Given the description of an element on the screen output the (x, y) to click on. 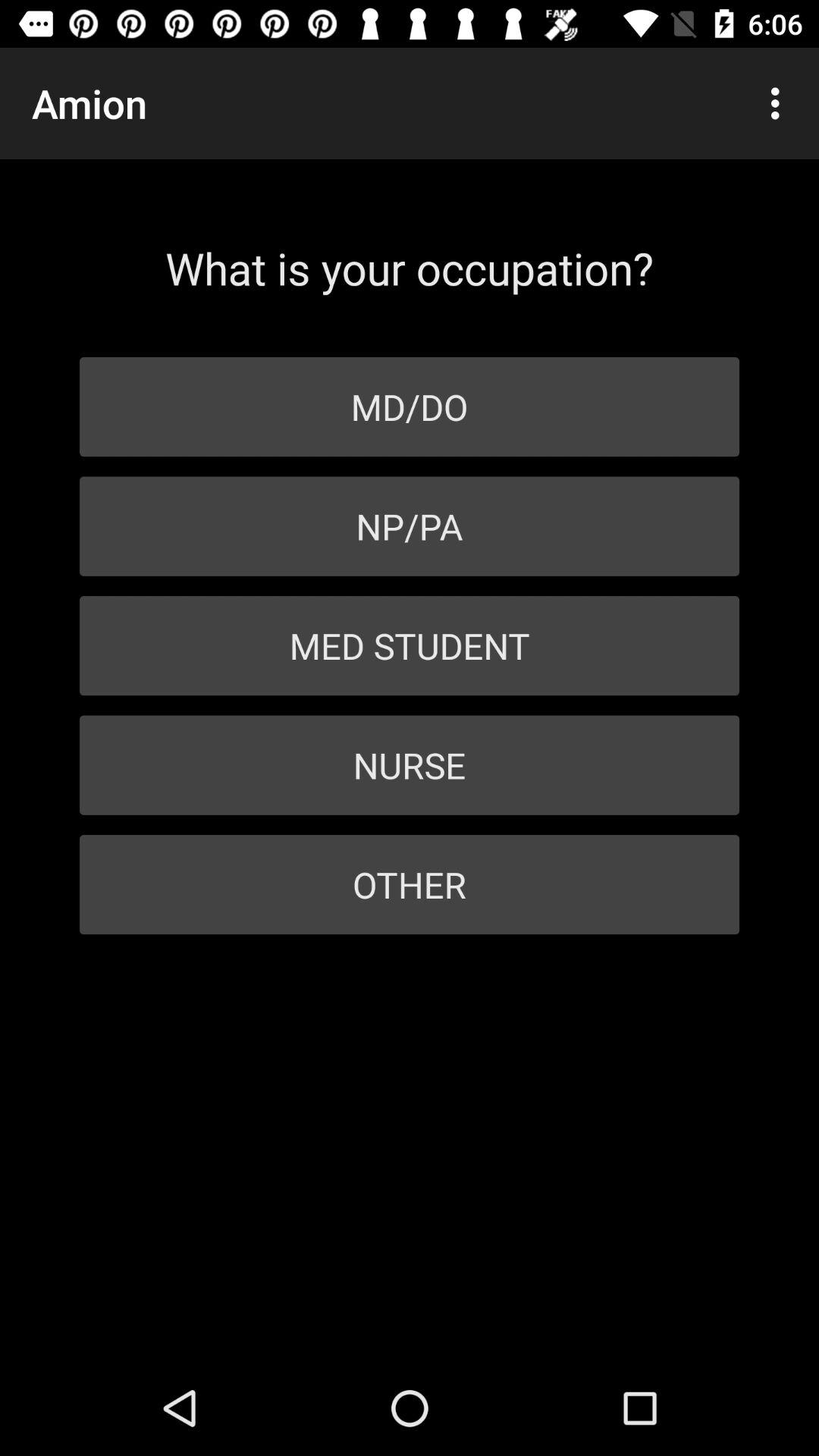
flip until the nurse item (409, 765)
